Given the description of an element on the screen output the (x, y) to click on. 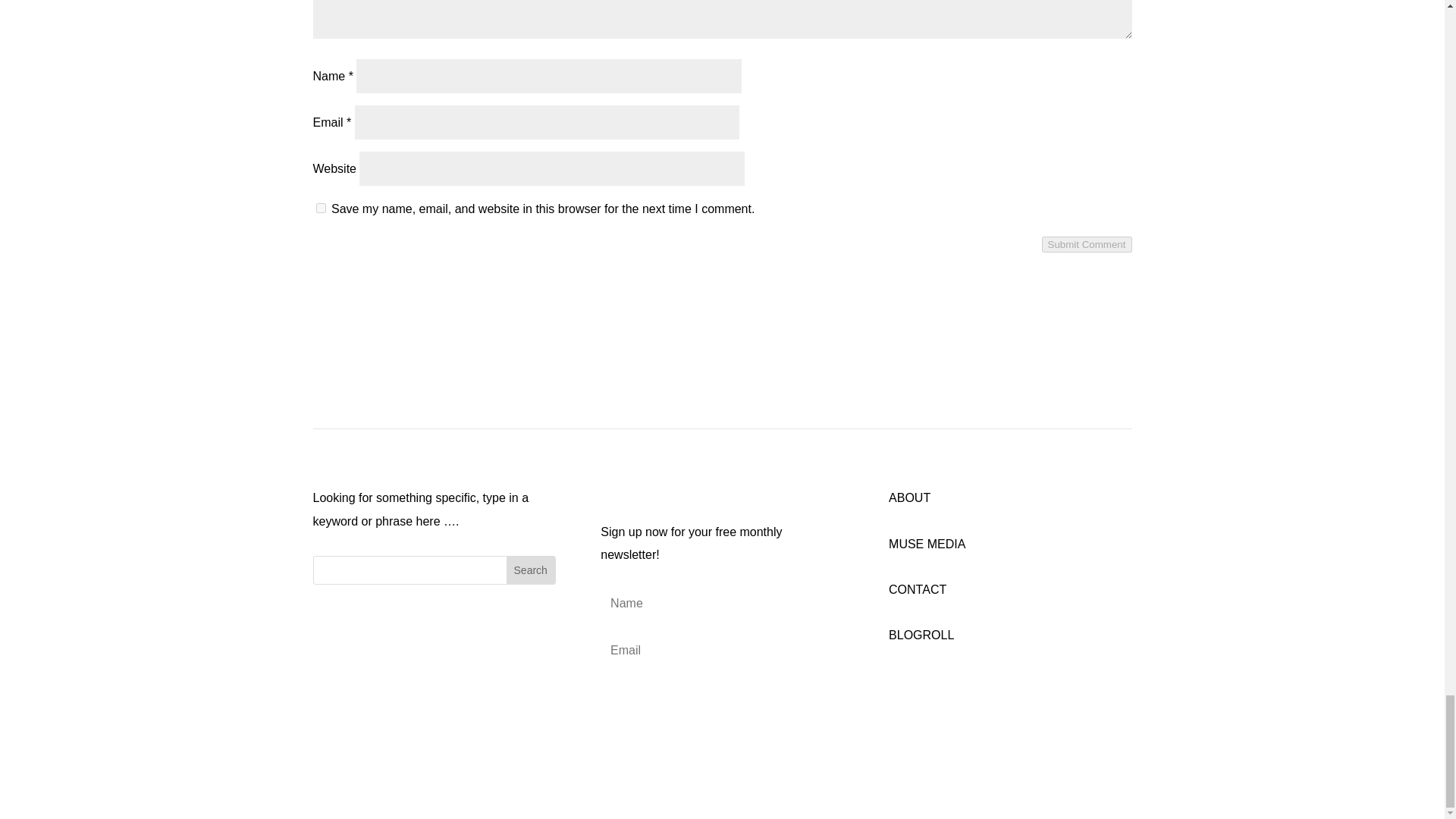
Search (530, 569)
Search (530, 569)
yes (319, 207)
